Given the description of an element on the screen output the (x, y) to click on. 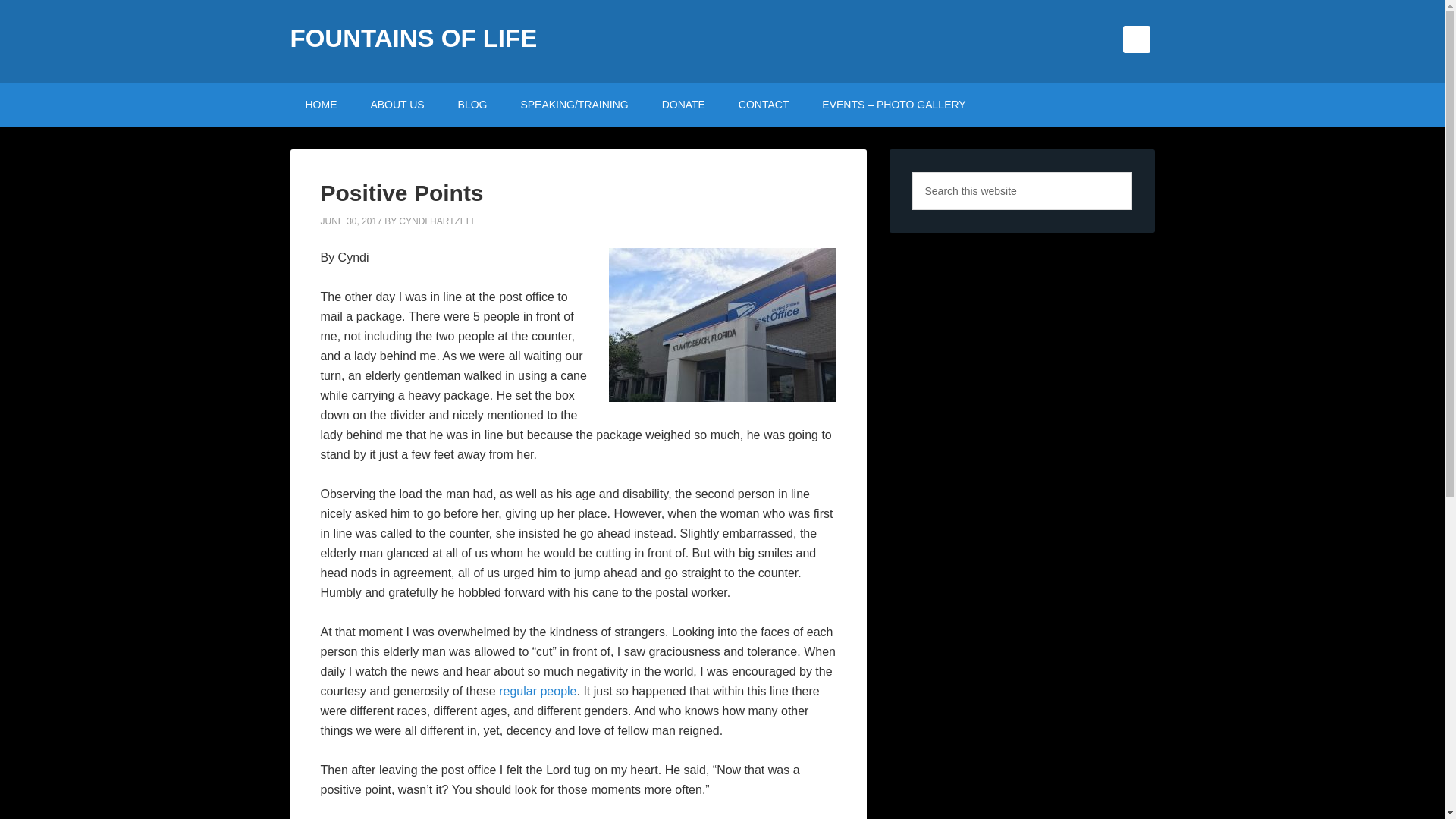
BLOG (472, 104)
ABOUT US (397, 104)
HOME (320, 104)
CYNDI HARTZELL (437, 221)
regular people (537, 689)
CONTACT (764, 104)
DONATE (683, 104)
FOUNTAINS OF LIFE (413, 38)
